Given the description of an element on the screen output the (x, y) to click on. 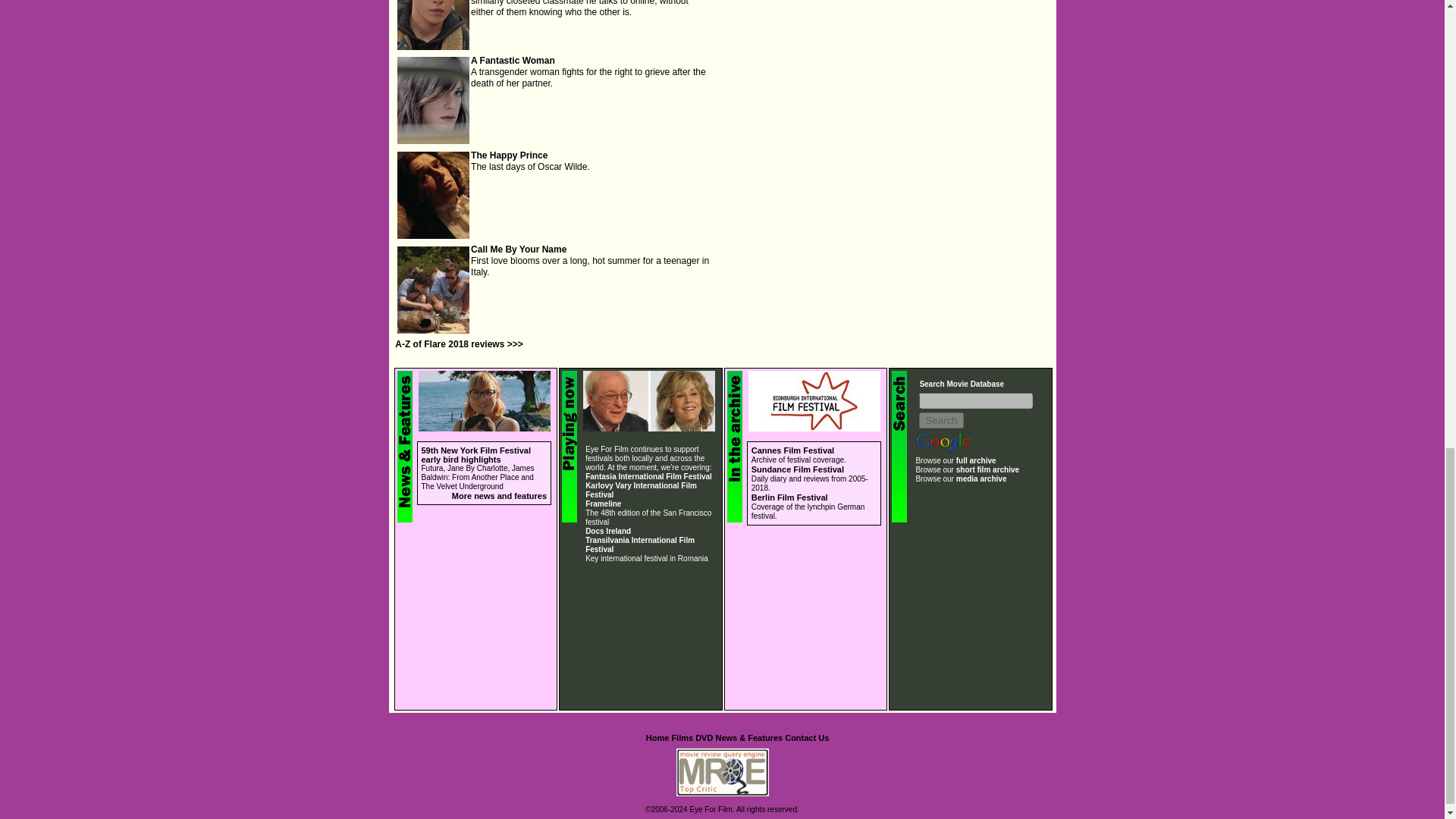
Search (940, 420)
